Given the description of an element on the screen output the (x, y) to click on. 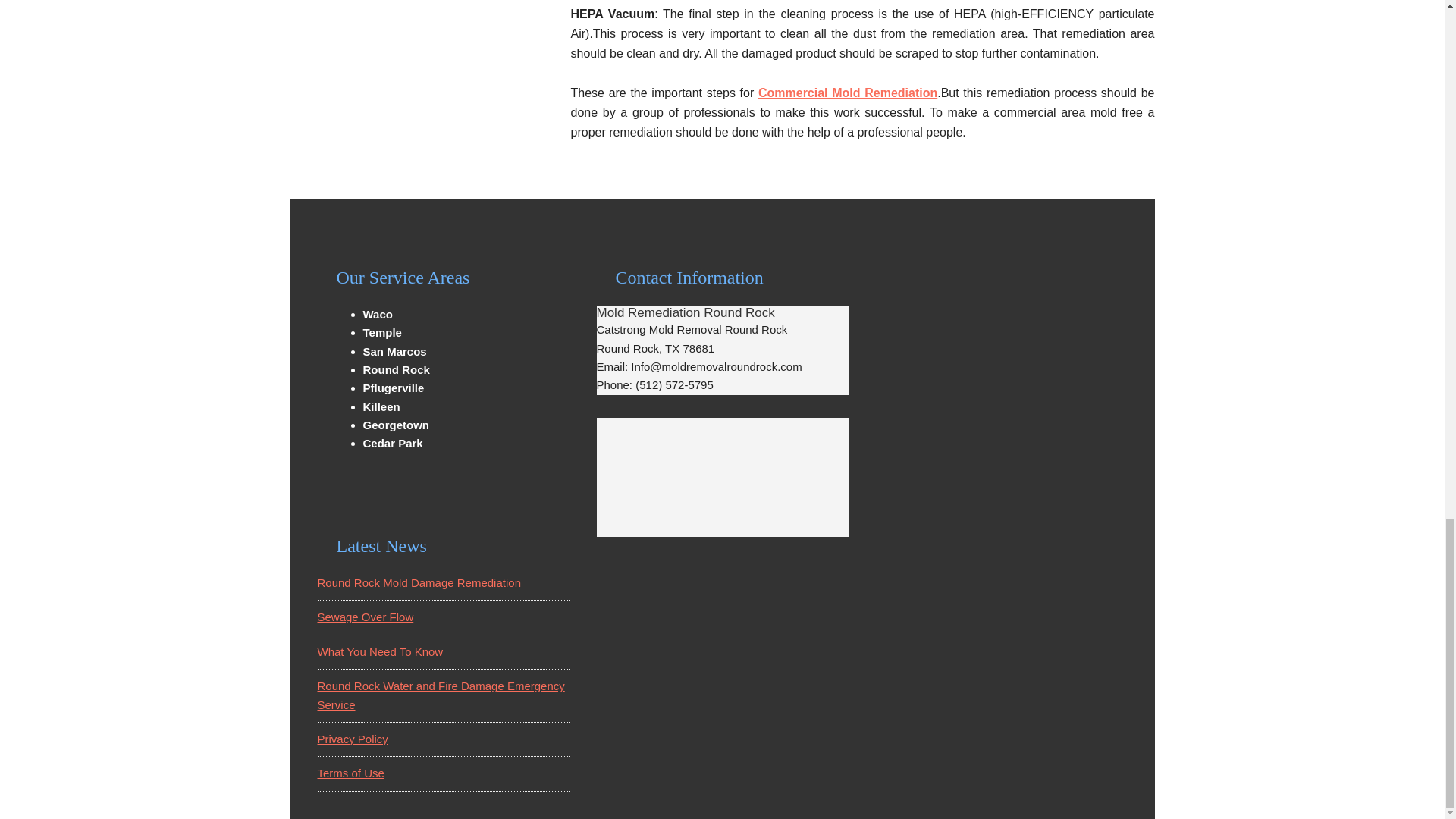
Killeen (380, 406)
Round Rock Water and Fire Damage Emergency Service (440, 694)
Temple (381, 332)
Georgetown (395, 424)
Pflugerville (392, 387)
Commercial Mold Remediation (847, 92)
Sewage Over Flow (365, 616)
San Marcos (394, 350)
Cedar Park (392, 442)
Privacy Policy (352, 738)
Waco (376, 314)
Round Rock (395, 369)
What You Need To Know (379, 651)
Round Rock Mold Damage Remediation (418, 582)
